Given the description of an element on the screen output the (x, y) to click on. 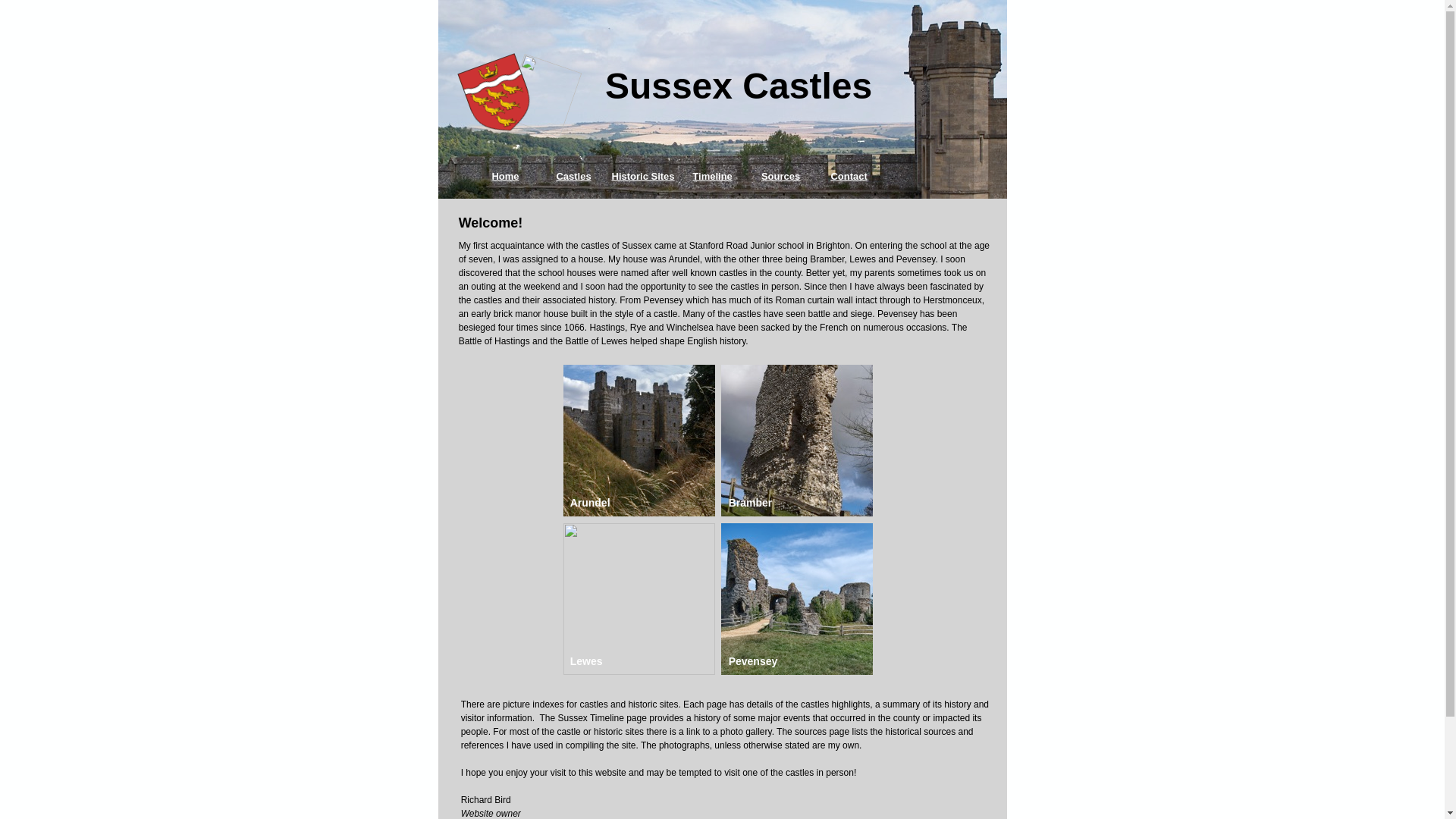
Historic Sites (642, 175)
Home (504, 175)
Castles (573, 175)
Contact (848, 175)
Timeline (712, 175)
Sources (780, 175)
